Given the description of an element on the screen output the (x, y) to click on. 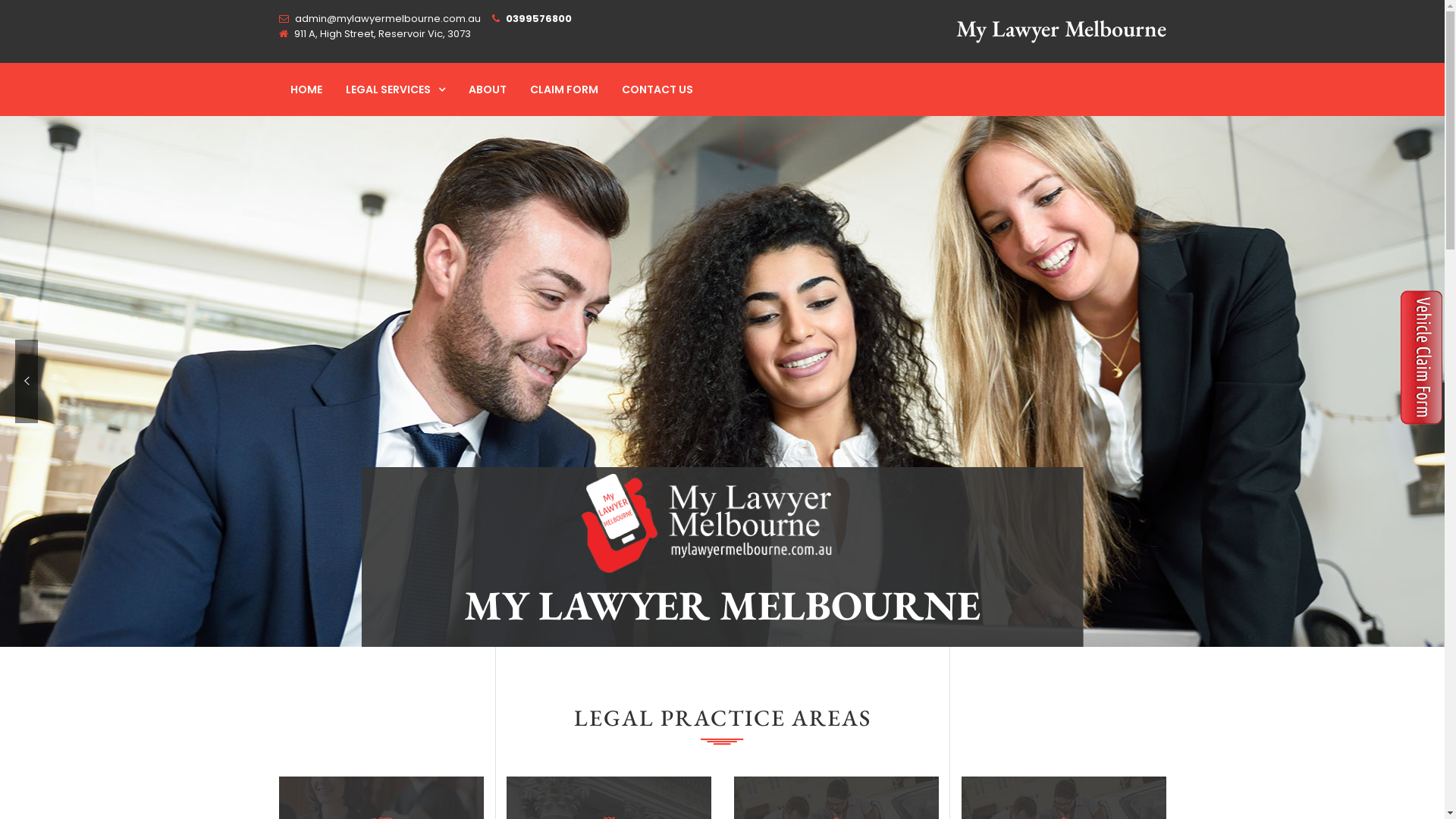
0399576800 Element type: text (538, 18)
CLAIM FORM Element type: text (563, 89)
HOME Element type: text (306, 89)
LEGAL SERVICES Element type: text (394, 89)
CONTACT US Element type: text (656, 89)
admin@mylawyermelbourne.com.au Element type: text (387, 18)
ABOUT Element type: text (486, 89)
